Given the description of an element on the screen output the (x, y) to click on. 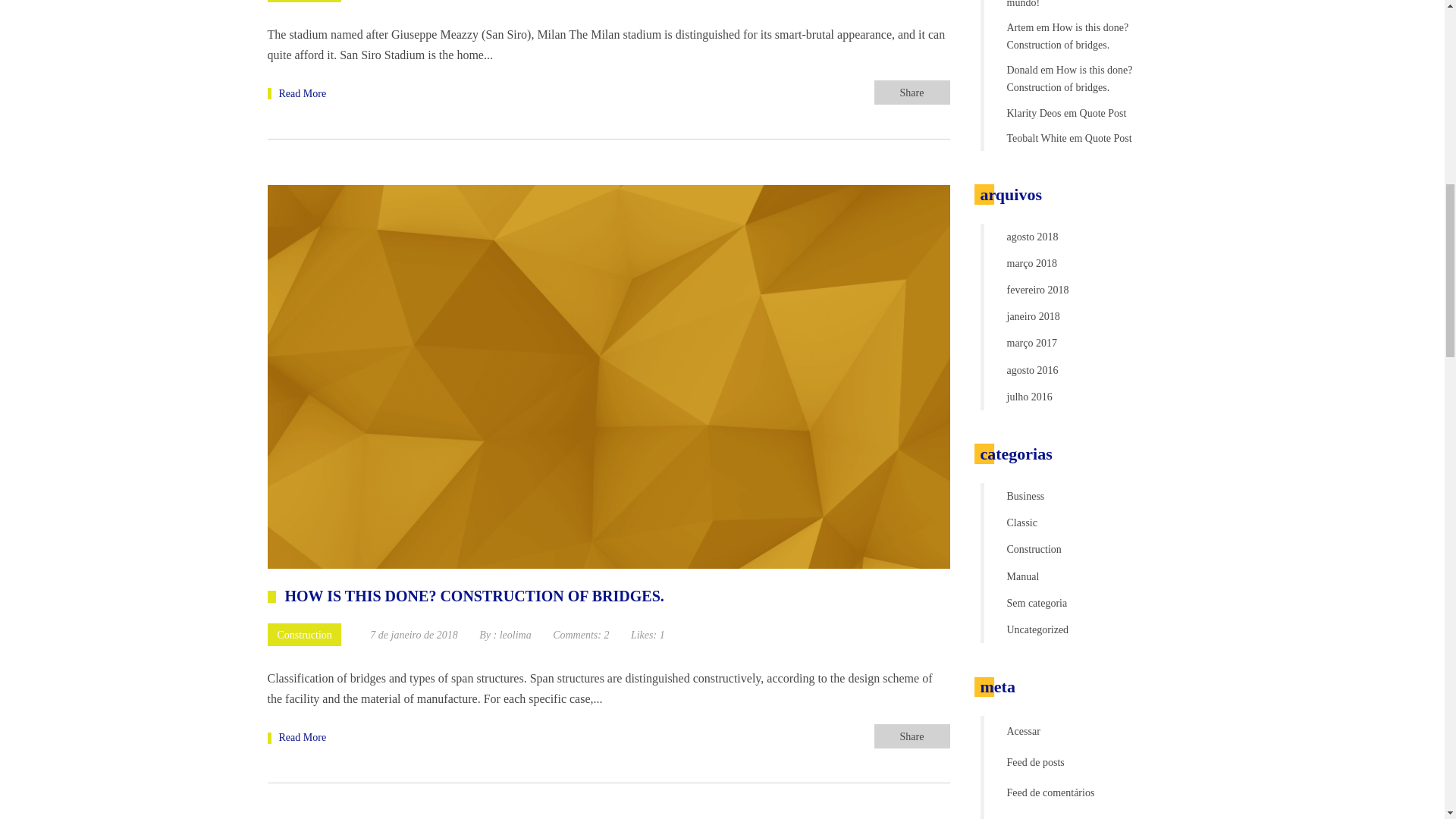
View all posts in Construction (303, 1)
Read More (296, 736)
The best stadiums in the world (296, 92)
Construction (303, 1)
How is this done? Construction of bridges. (296, 736)
Construction (303, 634)
View all posts in Construction (303, 634)
Read More (296, 92)
HOW IS THIS DONE? CONSTRUCTION OF BRIDGES. (464, 596)
